Given the description of an element on the screen output the (x, y) to click on. 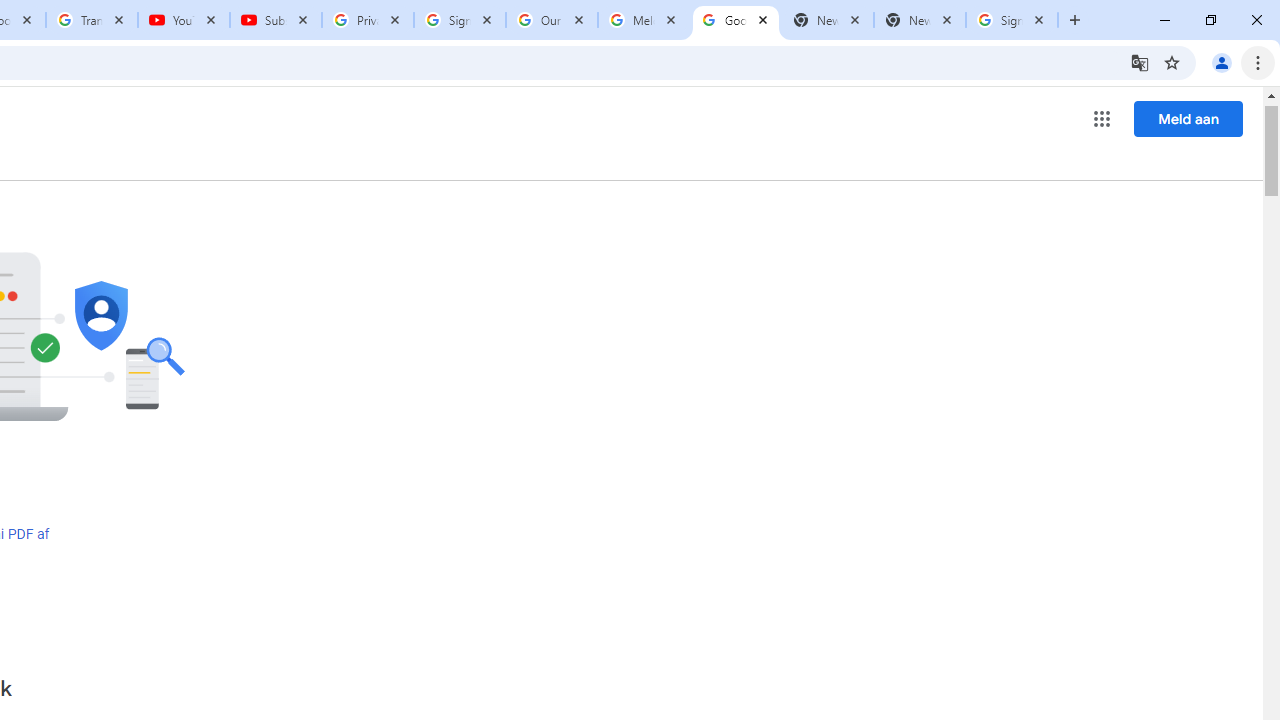
YouTube (184, 20)
New Tab (920, 20)
